Given the description of an element on the screen output the (x, y) to click on. 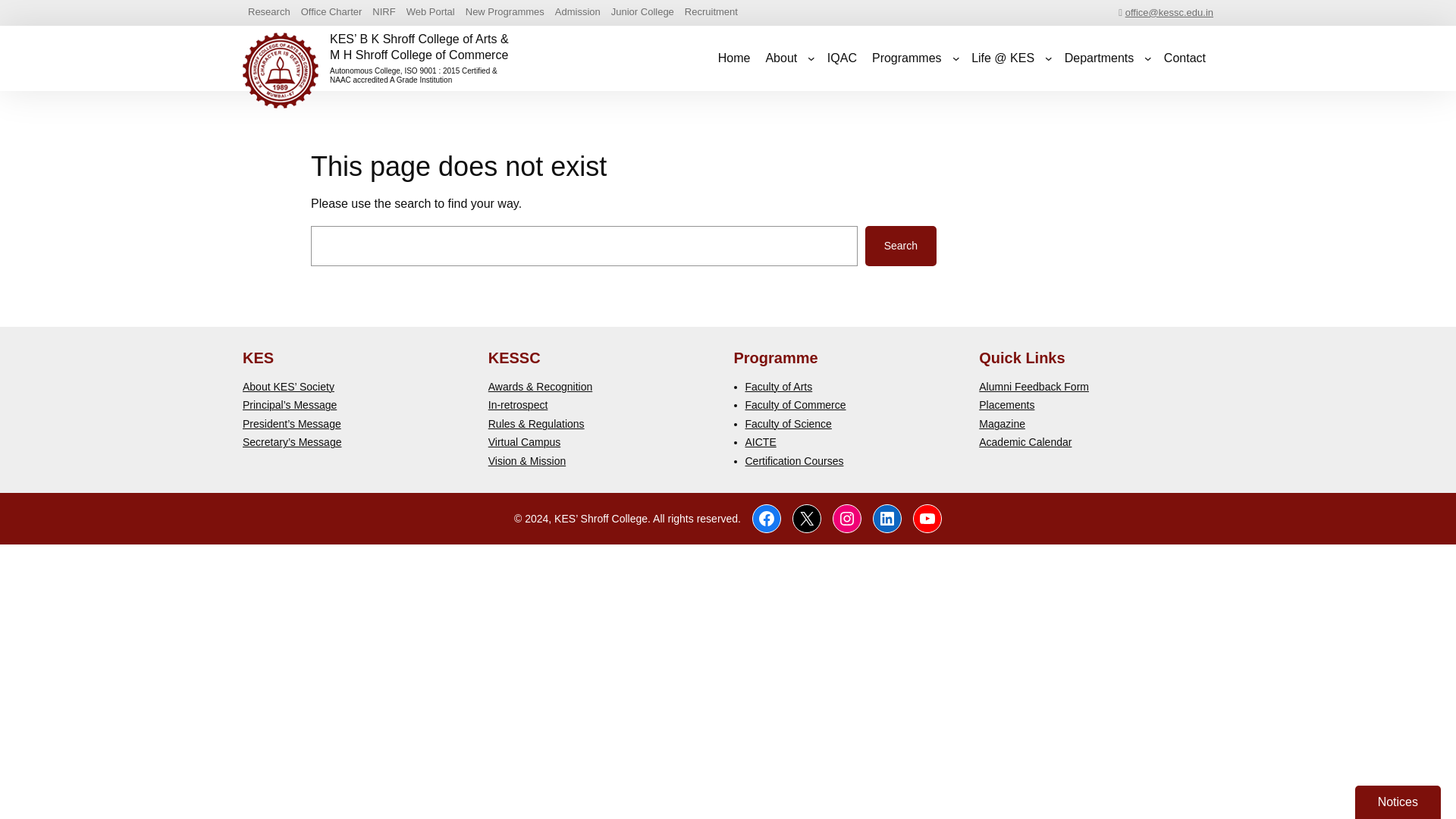
Admission (577, 12)
Research (269, 12)
New Programmes (505, 12)
About (781, 58)
Recruitment (710, 12)
IQAC (841, 58)
NIRF (383, 12)
Programmes (906, 58)
Web Portal (430, 12)
Home (734, 58)
